Given the description of an element on the screen output the (x, y) to click on. 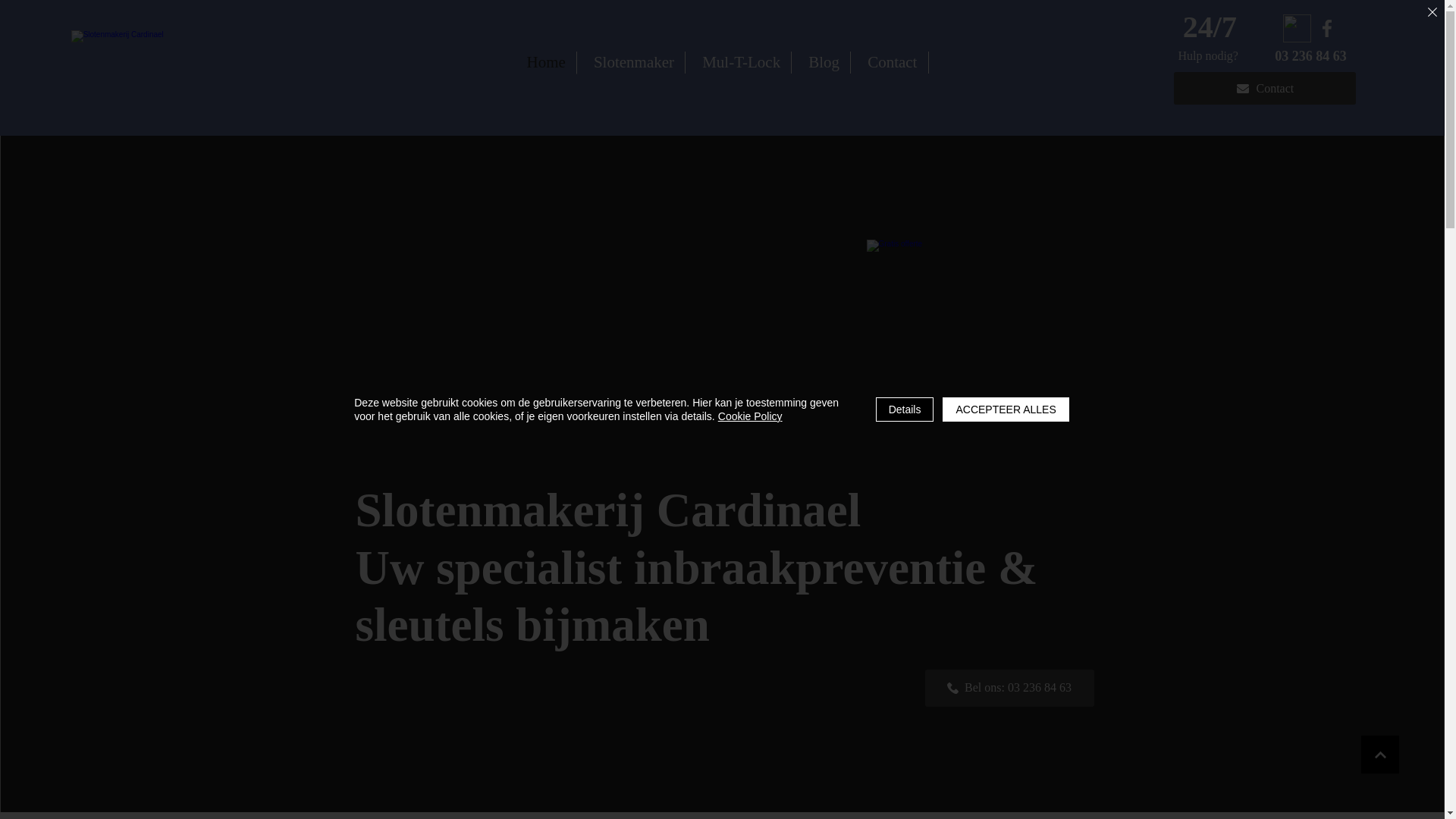
Contact Element type: text (1264, 88)
Bel ons: 03 236 84 63 Element type: text (1009, 687)
Contact Element type: text (892, 62)
Home Element type: text (545, 62)
Details Element type: text (904, 409)
Mul-T-Lock Element type: text (741, 62)
ACCEPTEER ALLES Element type: text (1005, 409)
Slotenmakerij Cardinael Element type: hover (979, 353)
Blog Element type: text (823, 62)
03 236 84 63 Element type: text (1311, 55)
Slotenmaker Element type: text (634, 62)
Cookie Policy Element type: text (750, 416)
